Given the description of an element on the screen output the (x, y) to click on. 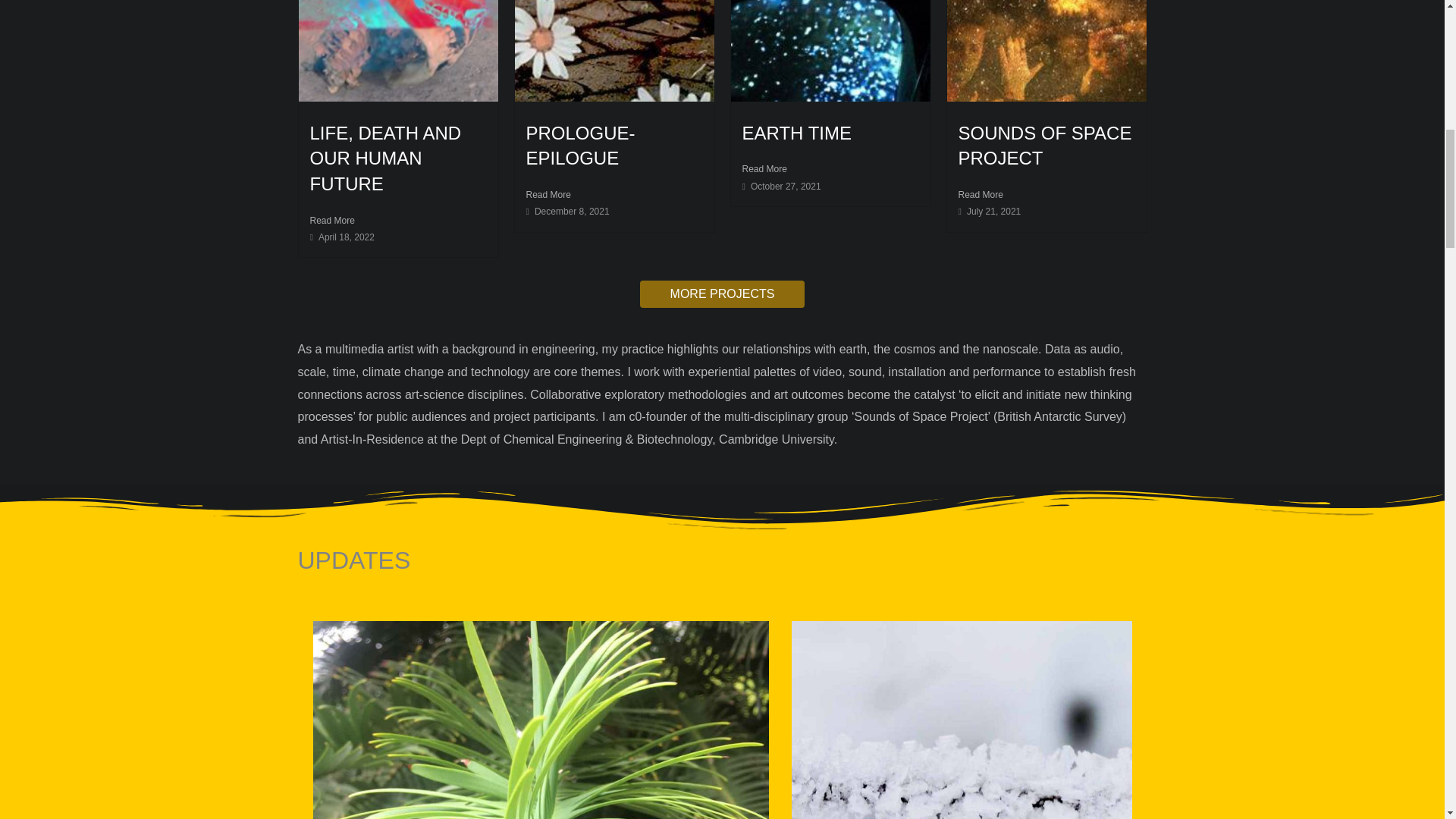
LIFE, DEATH AND OUR HUMAN FUTURE (384, 158)
Read More (1046, 194)
Read More (397, 220)
Read More (614, 194)
SOUNDS OF SPACE PROJECT (1045, 145)
LIFE, DEATH AND OUR HUMAN FUTURE (384, 158)
EARTH TIME (795, 132)
Read More (829, 168)
EARTH TIME (795, 132)
PROLOGUE-EPILOGUE (579, 145)
PROLOGUE-EPILOGUE (579, 145)
SOUNDS OF SPACE PROJECT (1045, 145)
MORE PROJECTS (722, 293)
